Given the description of an element on the screen output the (x, y) to click on. 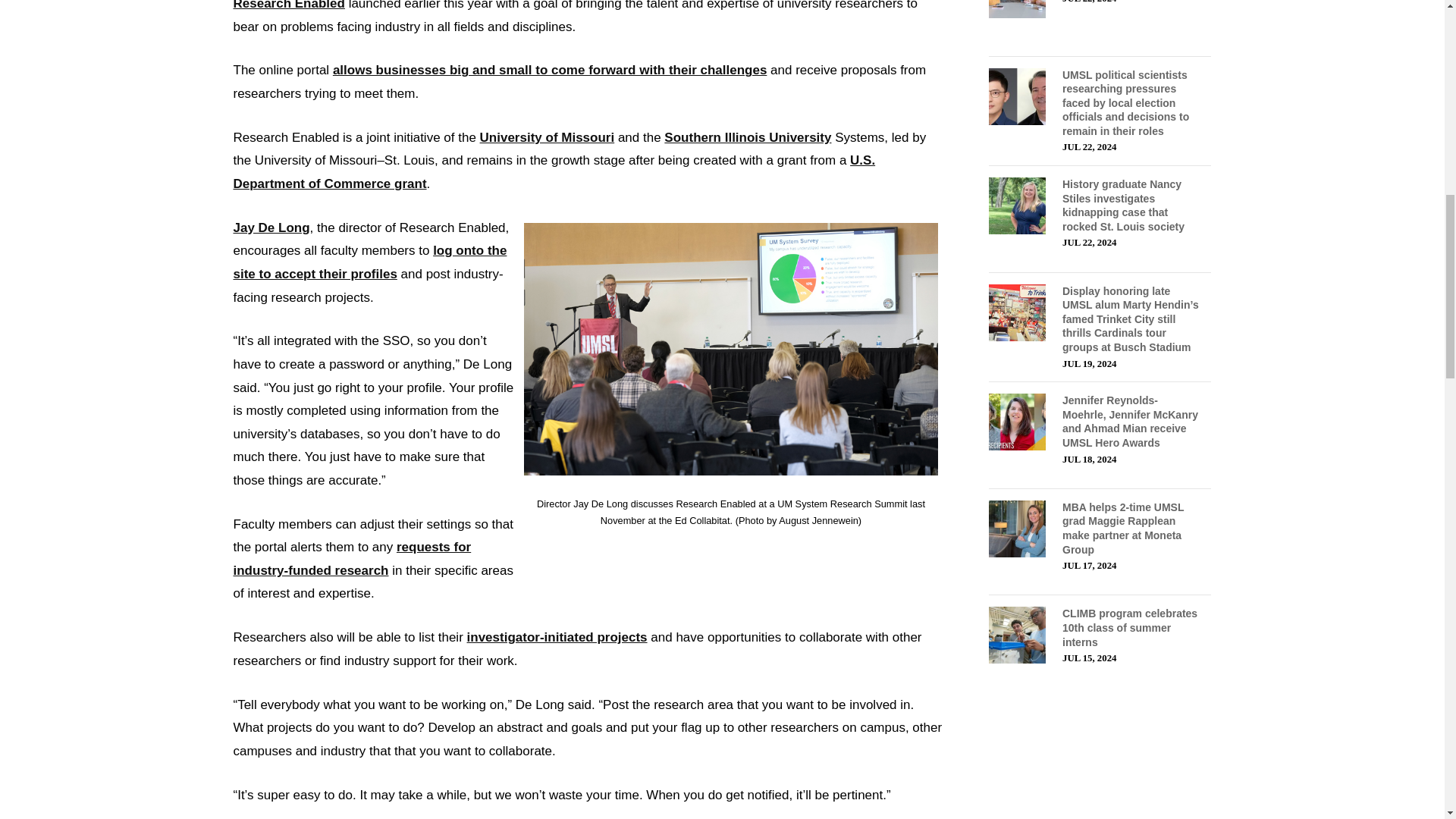
Research Enabled (288, 5)
Southern Illinois University (747, 137)
investigator-initiated projects (557, 636)
University of Missouri (547, 137)
log onto the site to accept their profiles (369, 262)
Jay De Long (271, 227)
requests for industry-funded research (351, 558)
U.S. Department of Commerce grant (554, 171)
